Given the description of an element on the screen output the (x, y) to click on. 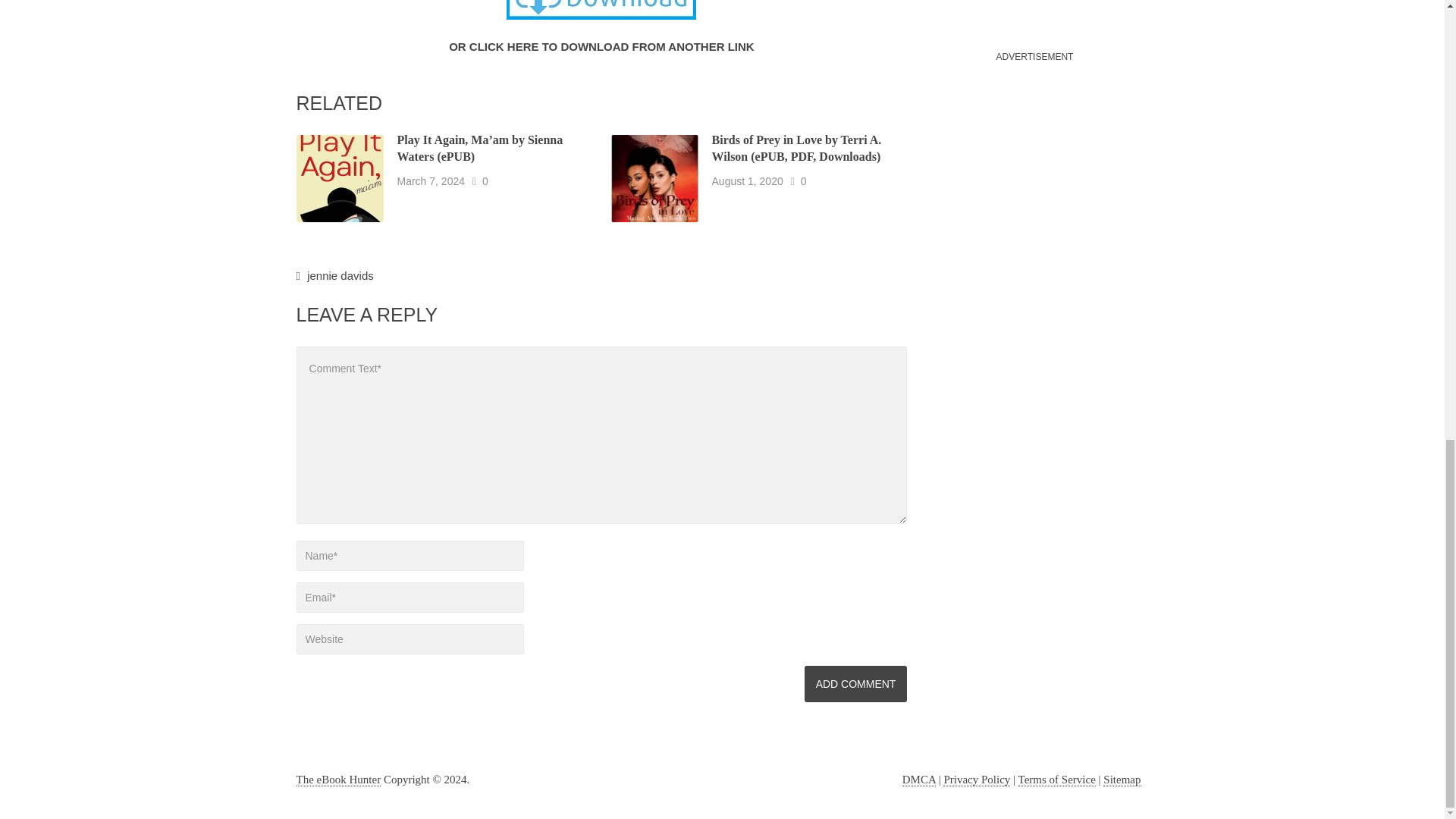
Add Comment (856, 683)
Add Comment (856, 683)
jennie davids (340, 274)
OR CLICK HERE TO DOWNLOAD FROM ANOTHER LINK (601, 46)
